Given the description of an element on the screen output the (x, y) to click on. 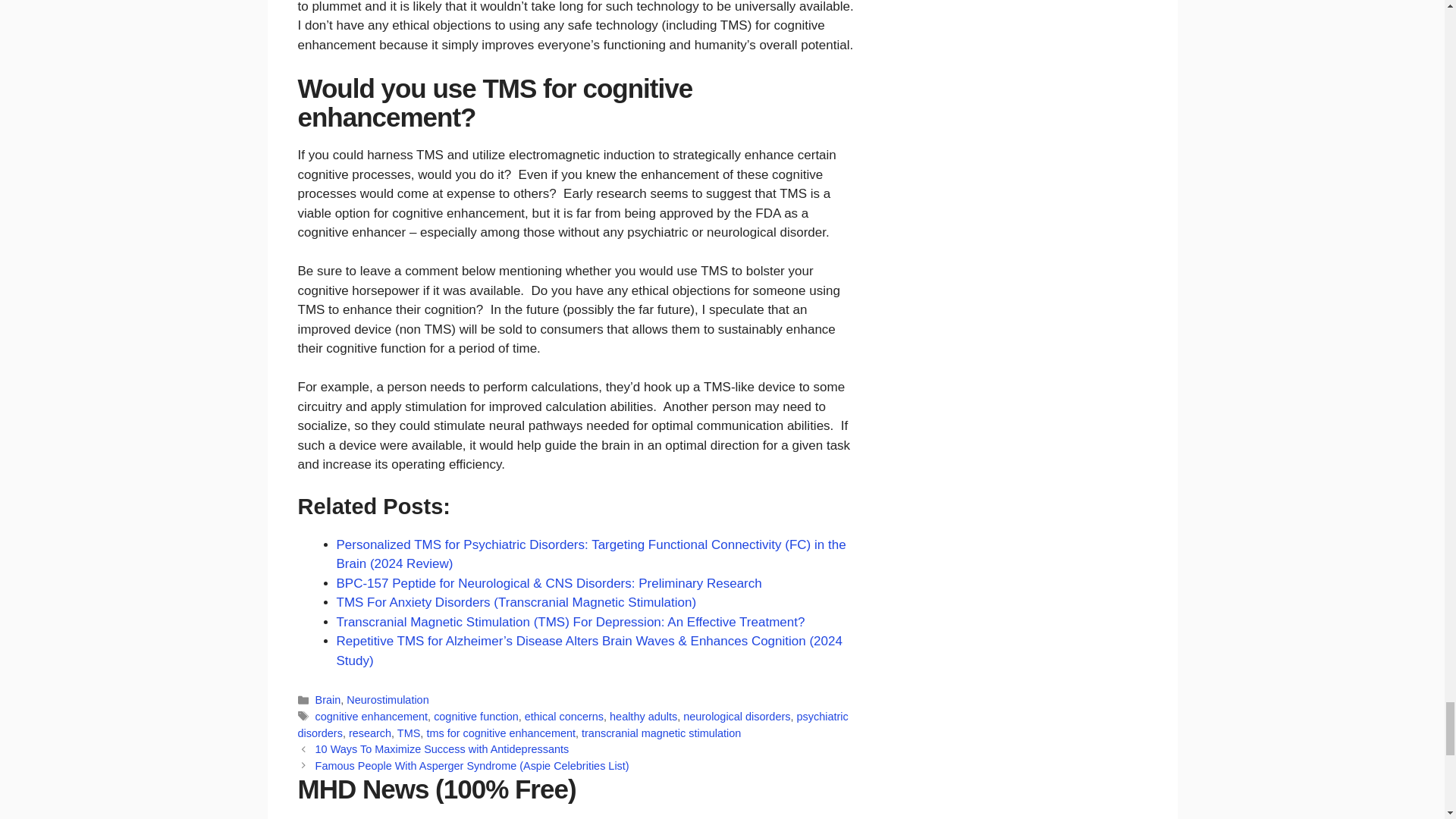
Neurostimulation (387, 699)
cognitive function (475, 716)
Brain (327, 699)
neurological disorders (736, 716)
TMS (408, 733)
research (370, 733)
ethical concerns (564, 716)
psychiatric disorders (572, 724)
cognitive enhancement (371, 716)
healthy adults (643, 716)
